Given the description of an element on the screen output the (x, y) to click on. 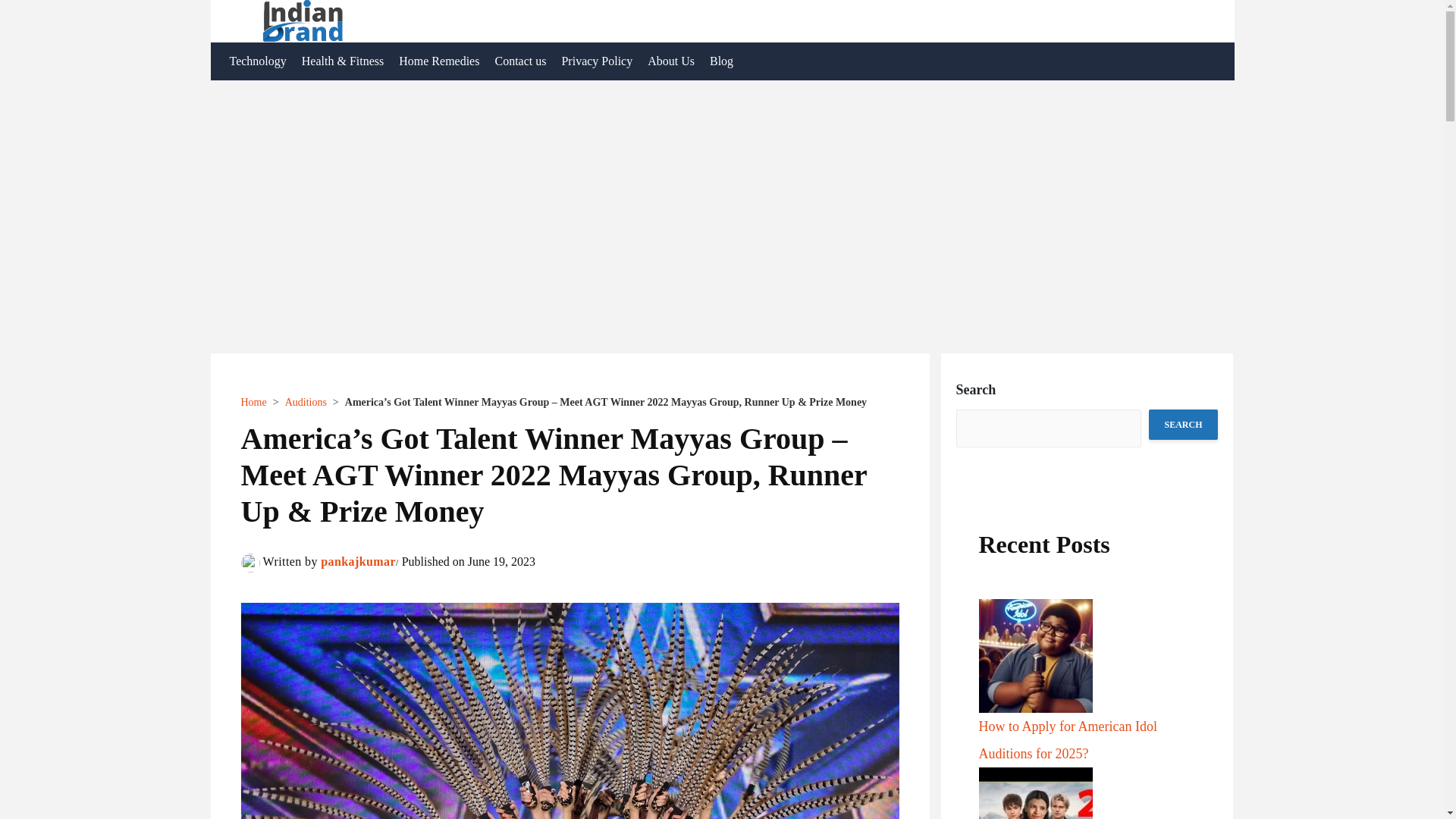
How to Apply for American Idol Auditions for 2025? (1067, 740)
Home (253, 401)
pankajkumar (358, 561)
Privacy Policy (596, 61)
Auditions (305, 401)
Contact us (519, 61)
Posts by pankajkumar (358, 561)
About Us (670, 61)
Blog (721, 61)
SEARCH (1182, 424)
Technology (257, 61)
Home (253, 401)
Home Remedies (438, 61)
